Given the description of an element on the screen output the (x, y) to click on. 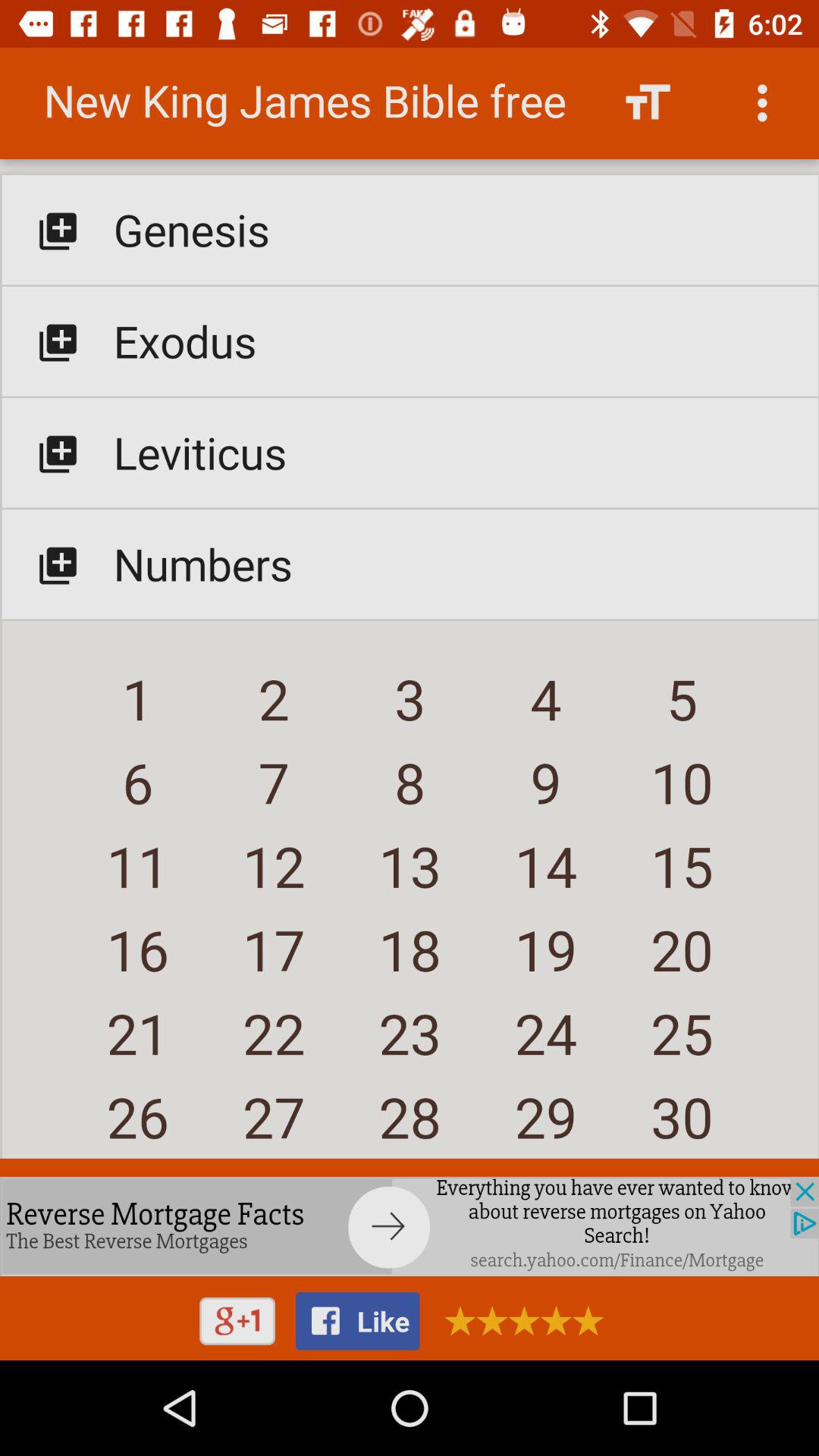
home page of the app (409, 609)
